Given the description of an element on the screen output the (x, y) to click on. 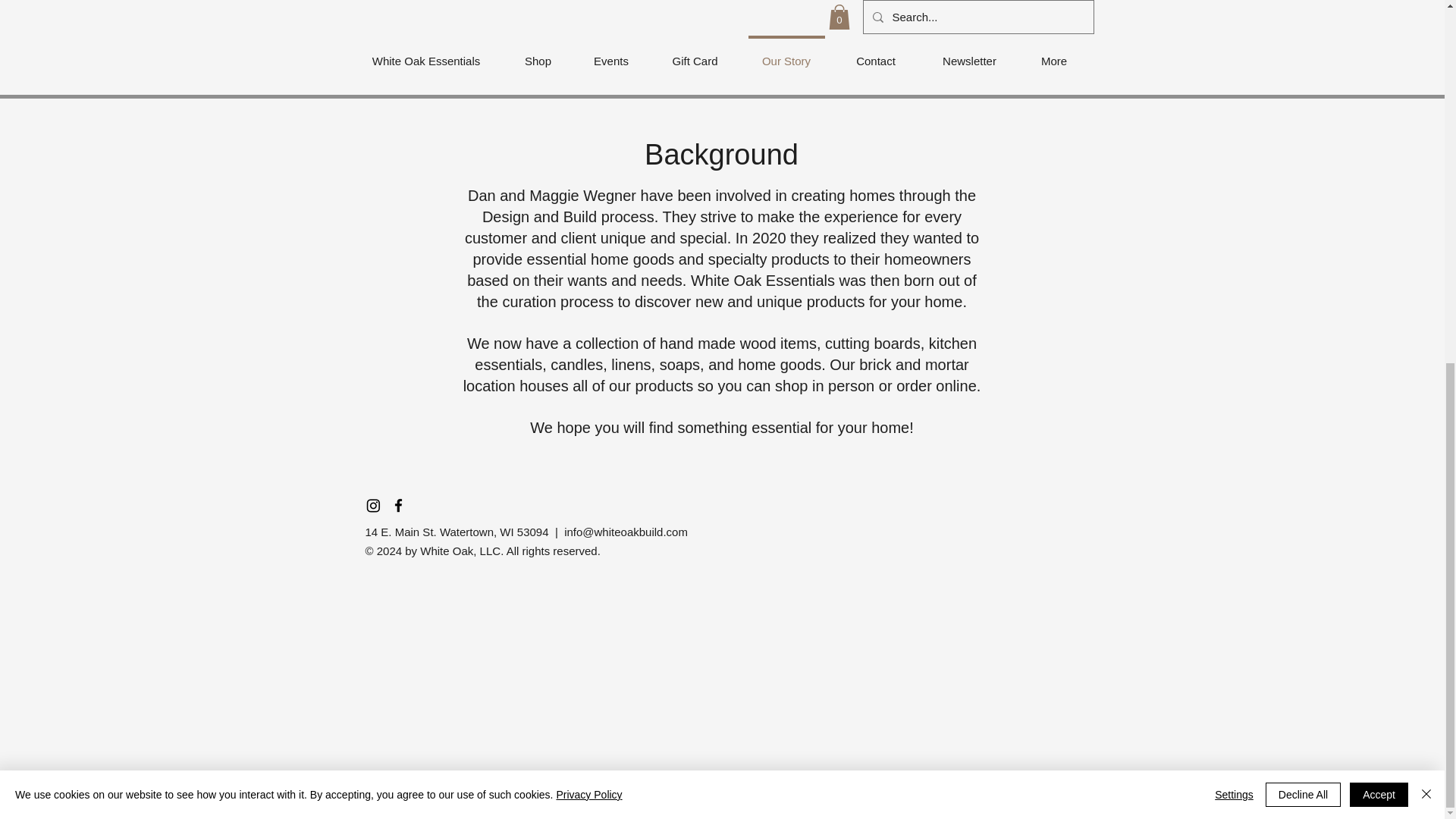
Privacy Policy (588, 146)
Decline All (1302, 146)
Accept (1378, 146)
